Given the description of an element on the screen output the (x, y) to click on. 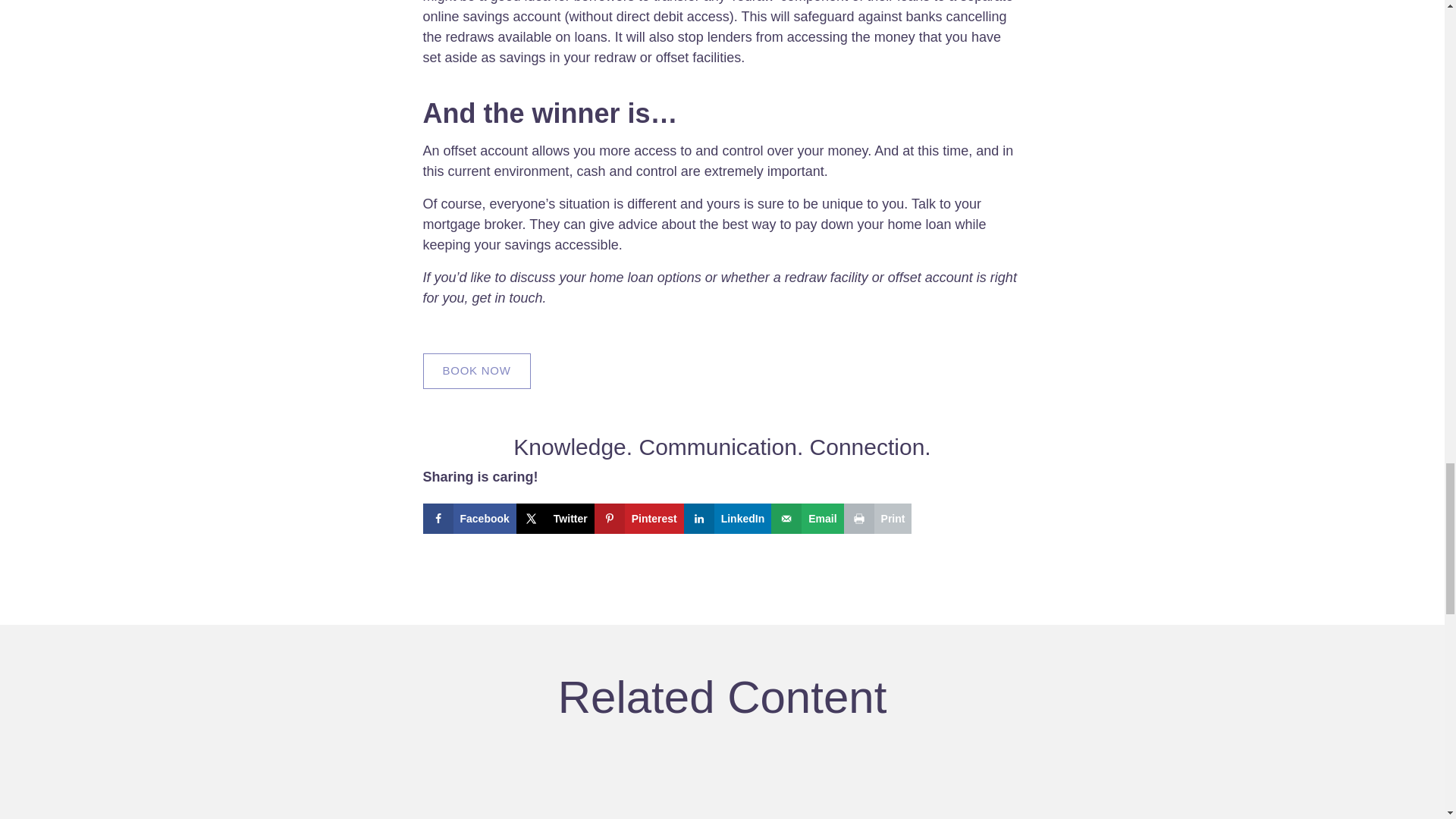
Share on LinkedIn (727, 518)
Print (878, 518)
Email (807, 518)
Print this webpage (878, 518)
Pinterest (639, 518)
BOOK NOW (477, 370)
Facebook (469, 518)
Save to Pinterest (639, 518)
Share on Facebook (469, 518)
LinkedIn (727, 518)
